Given the description of an element on the screen output the (x, y) to click on. 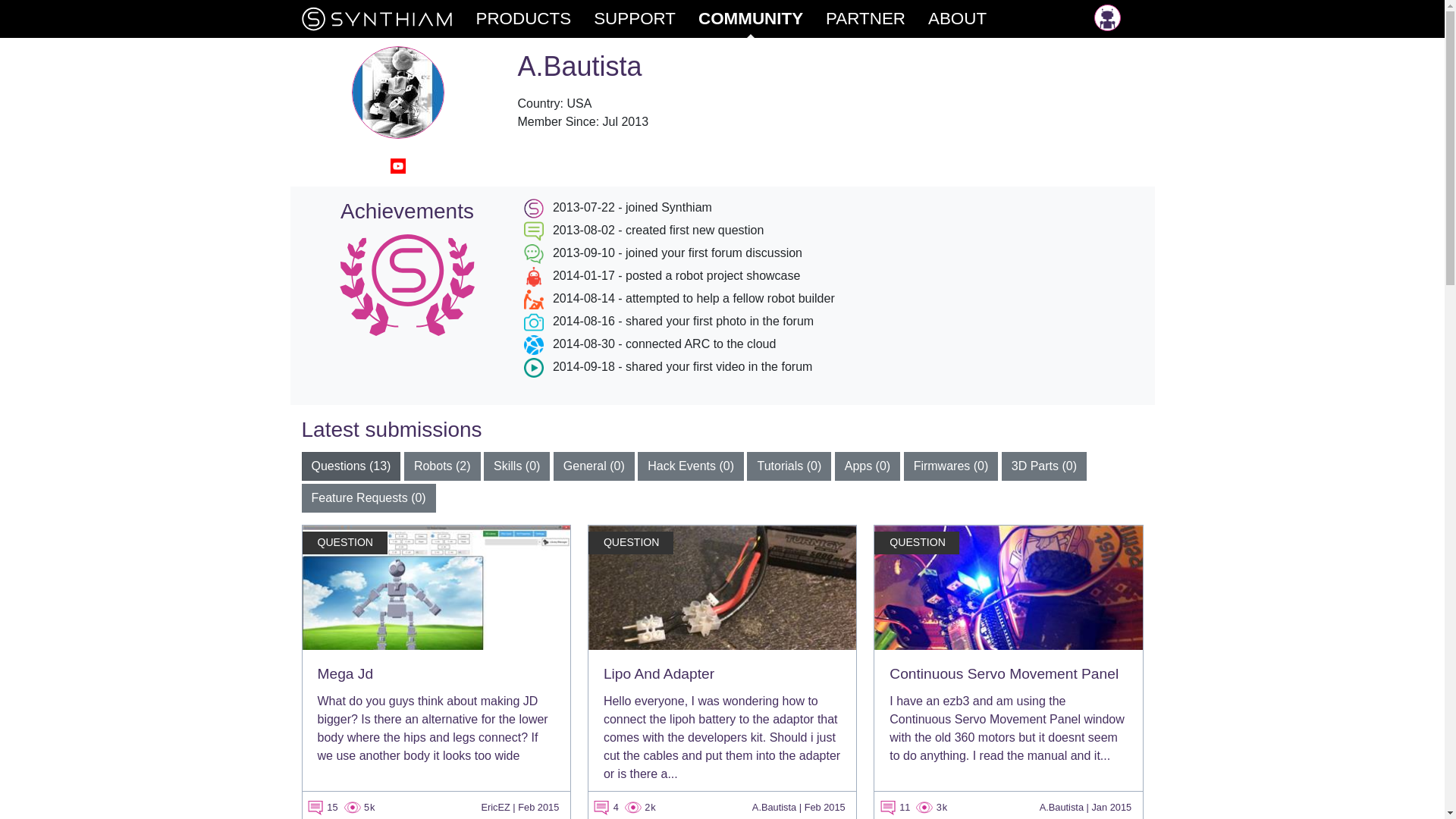
2015-02-23 23:41 UTC (538, 807)
PARTNER (876, 18)
2013-07-22 13:15 UTC (625, 121)
PRODUCTS (535, 18)
2015-02-12 12:54 UTC (825, 807)
SUPPORT (646, 18)
ABOUT (968, 18)
COMMUNITY (761, 18)
2015-01-10 01:21 UTC (1110, 807)
